Given the description of an element on the screen output the (x, y) to click on. 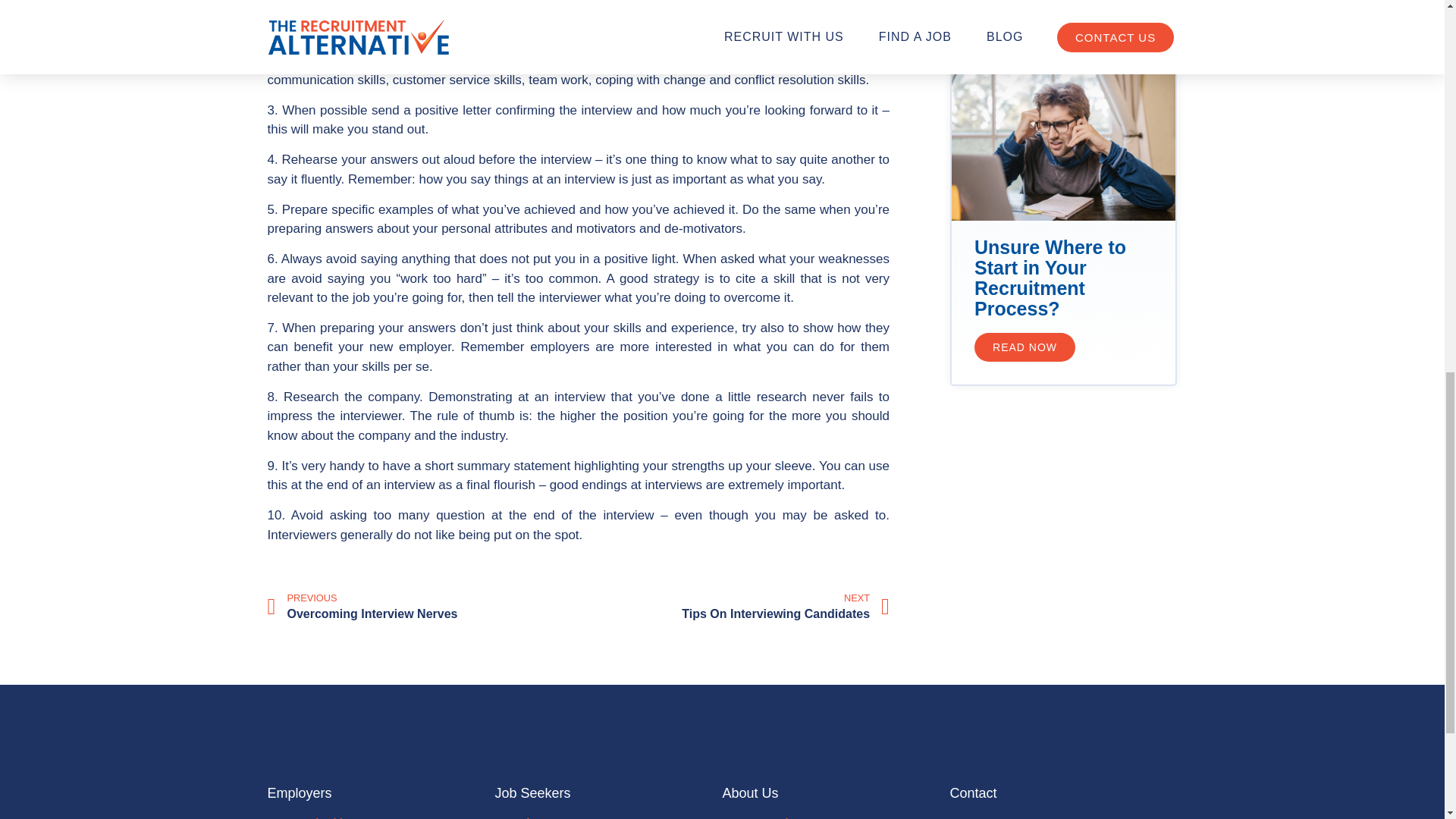
READ NOW (1024, 10)
READ NOW (1024, 346)
Help Center (608, 816)
Recruit with us (735, 606)
Unsure Where to Start in Your Recruitment Process? (380, 816)
